Given the description of an element on the screen output the (x, y) to click on. 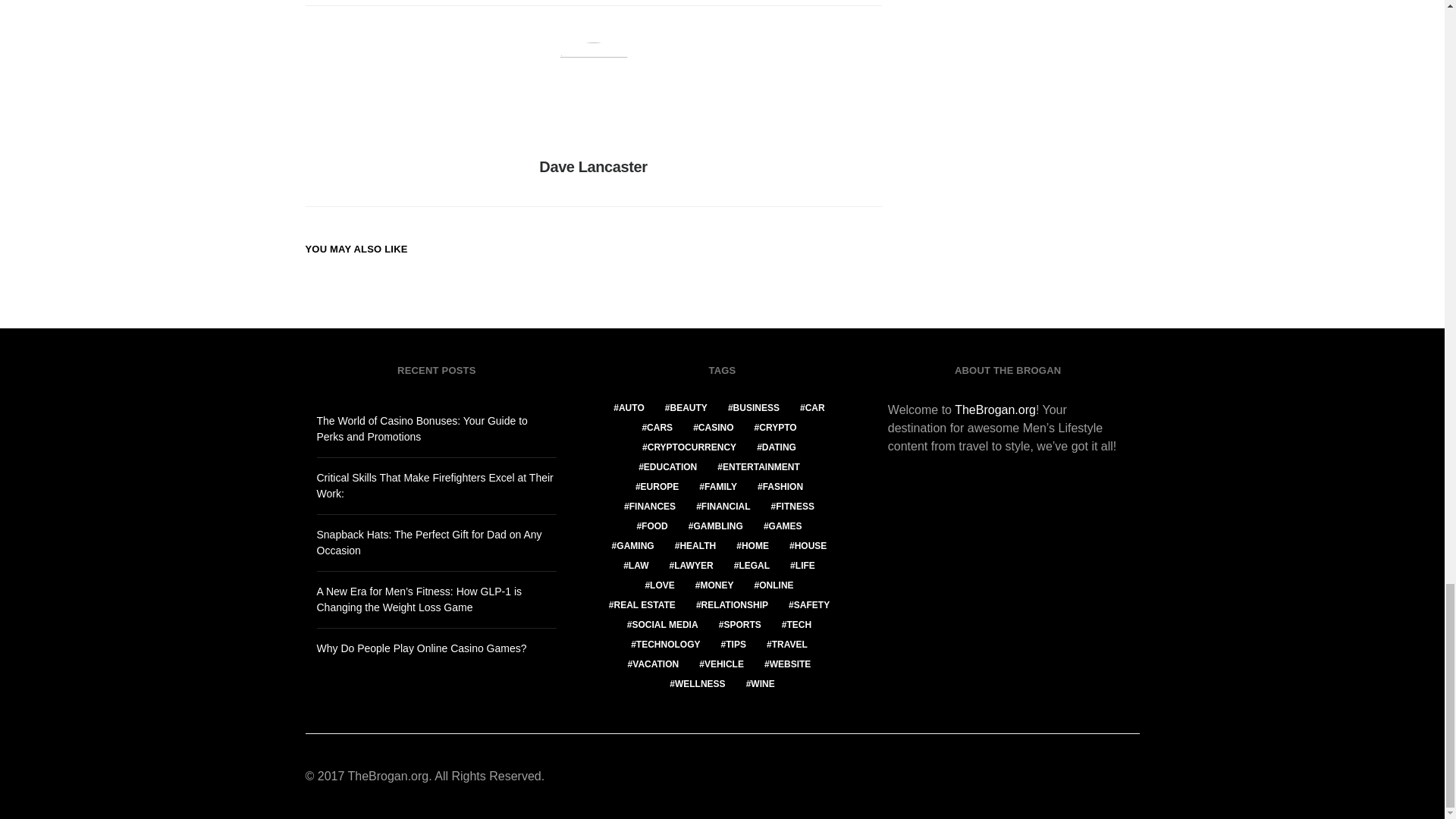
Dave Lancaster (592, 166)
